Given the description of an element on the screen output the (x, y) to click on. 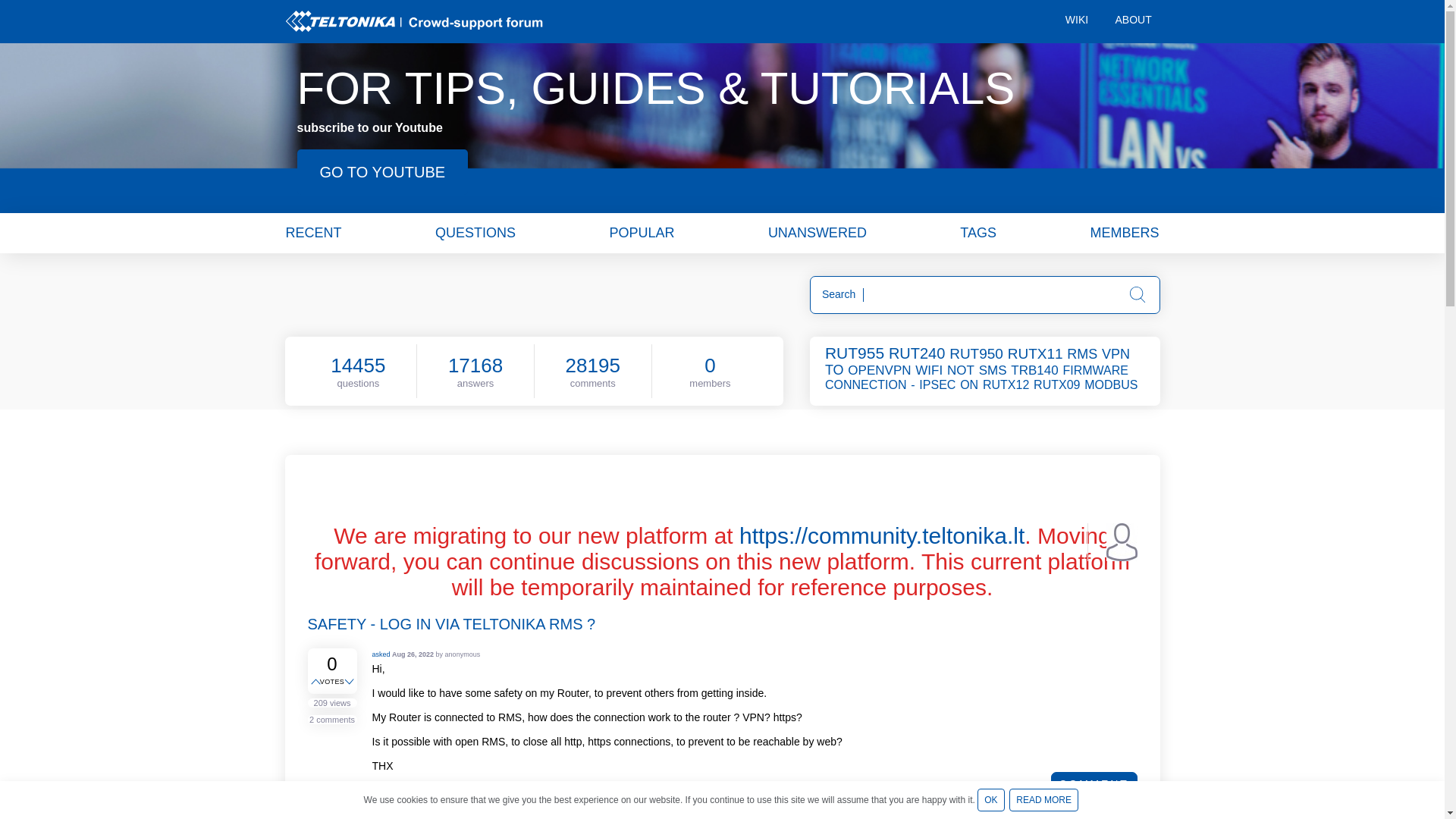
SAFETY - LOG IN VIA TELTONIKA RMS ? (451, 623)
WIKI (1077, 21)
TO (835, 369)
RUT240 (917, 352)
Add a comment on this question (1094, 784)
SMS (993, 370)
RECENT (312, 232)
Click to vote down (349, 682)
Search (1137, 294)
POPULAR (641, 232)
